Given the description of an element on the screen output the (x, y) to click on. 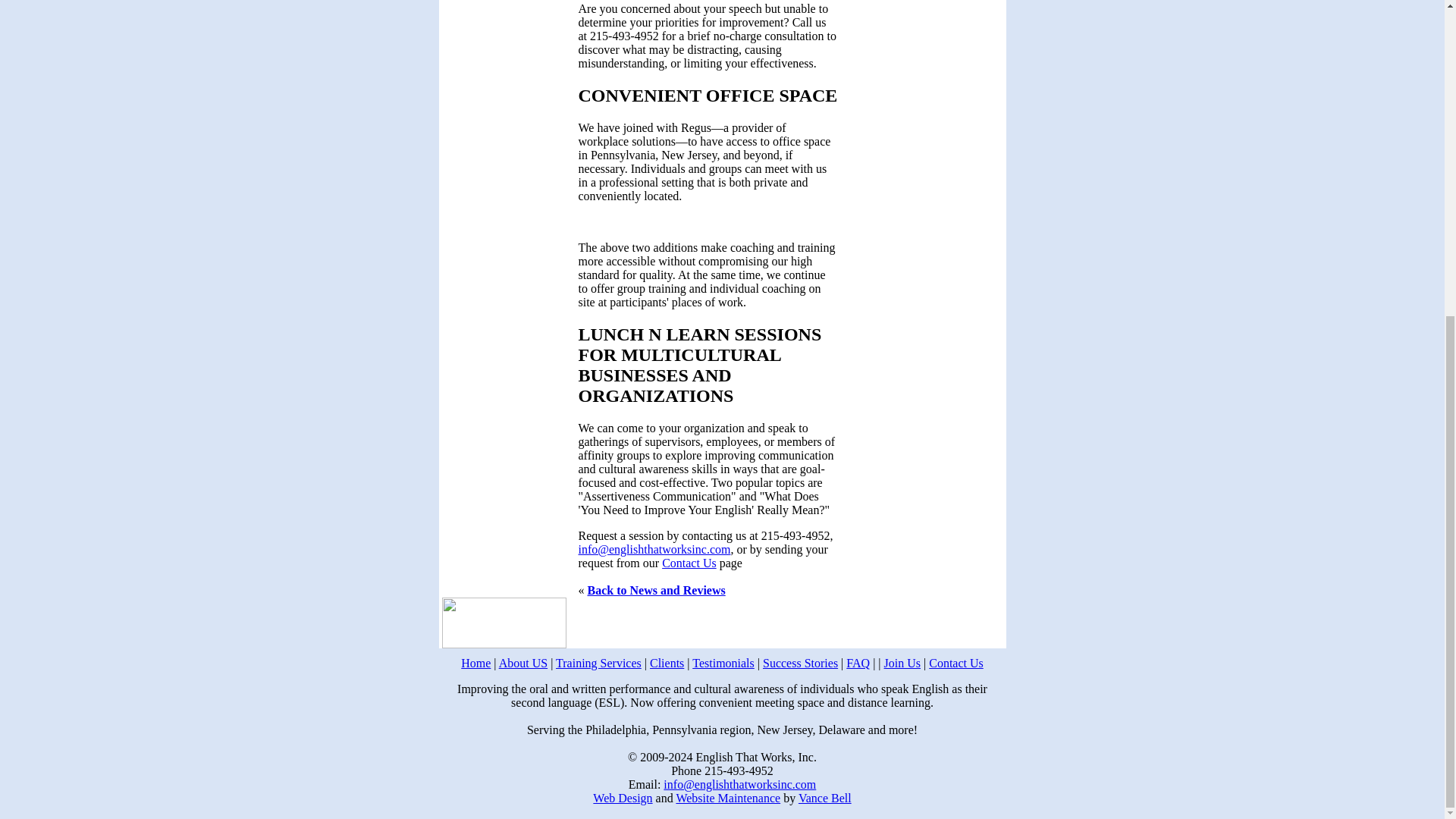
Vance Bell (824, 797)
Clients (666, 662)
Training Services (599, 662)
Website Maintenance (727, 797)
Testimonials (723, 662)
Contact Us (689, 562)
Join Us (901, 662)
Web Design (622, 797)
FAQ (857, 662)
Home (475, 662)
Success Stories (800, 662)
About US (523, 662)
Back to News and Reviews (655, 590)
Contact Us (956, 662)
